Given the description of an element on the screen output the (x, y) to click on. 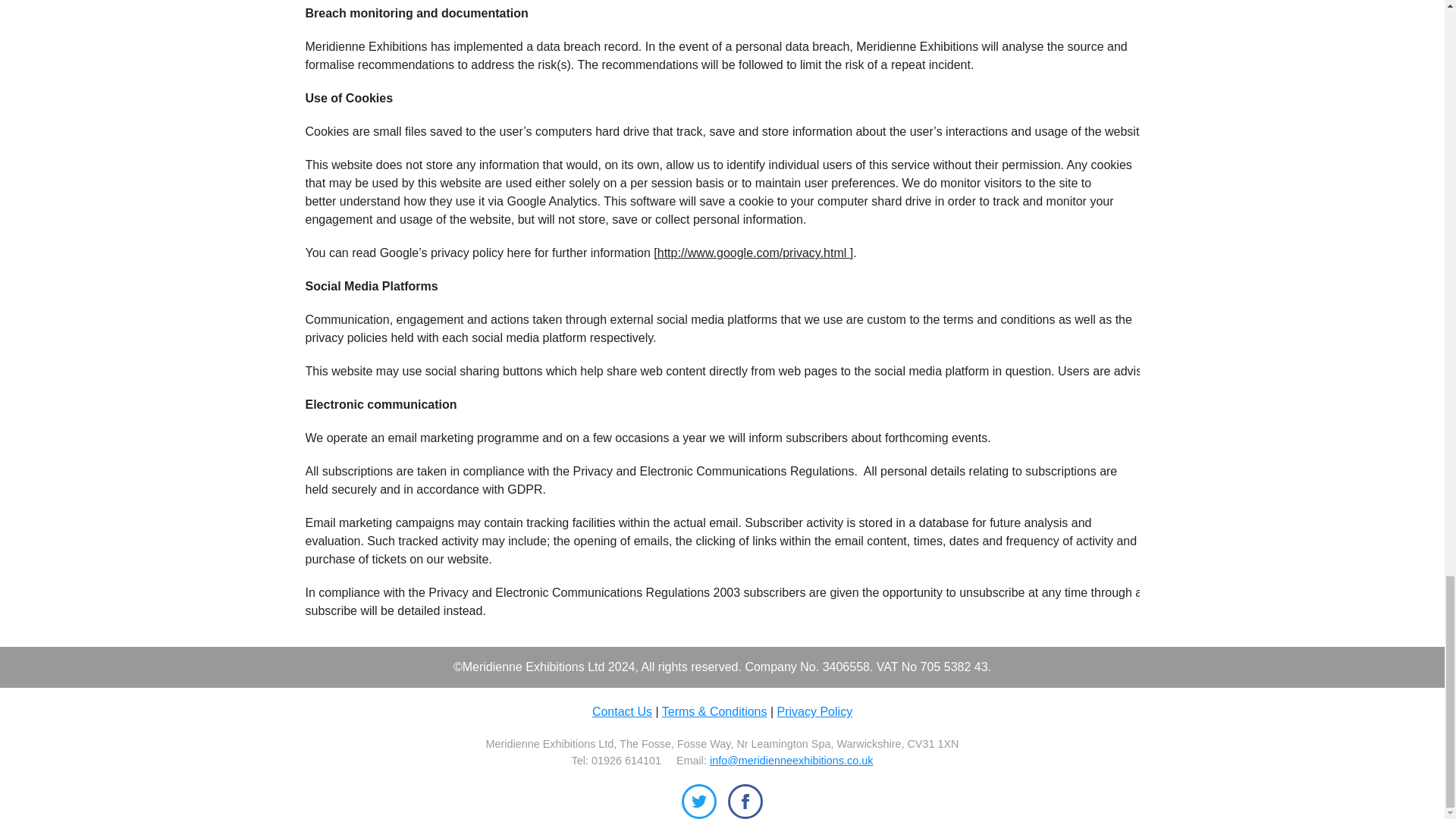
Privacy Policy (815, 711)
Contact Us (622, 711)
